Given the description of an element on the screen output the (x, y) to click on. 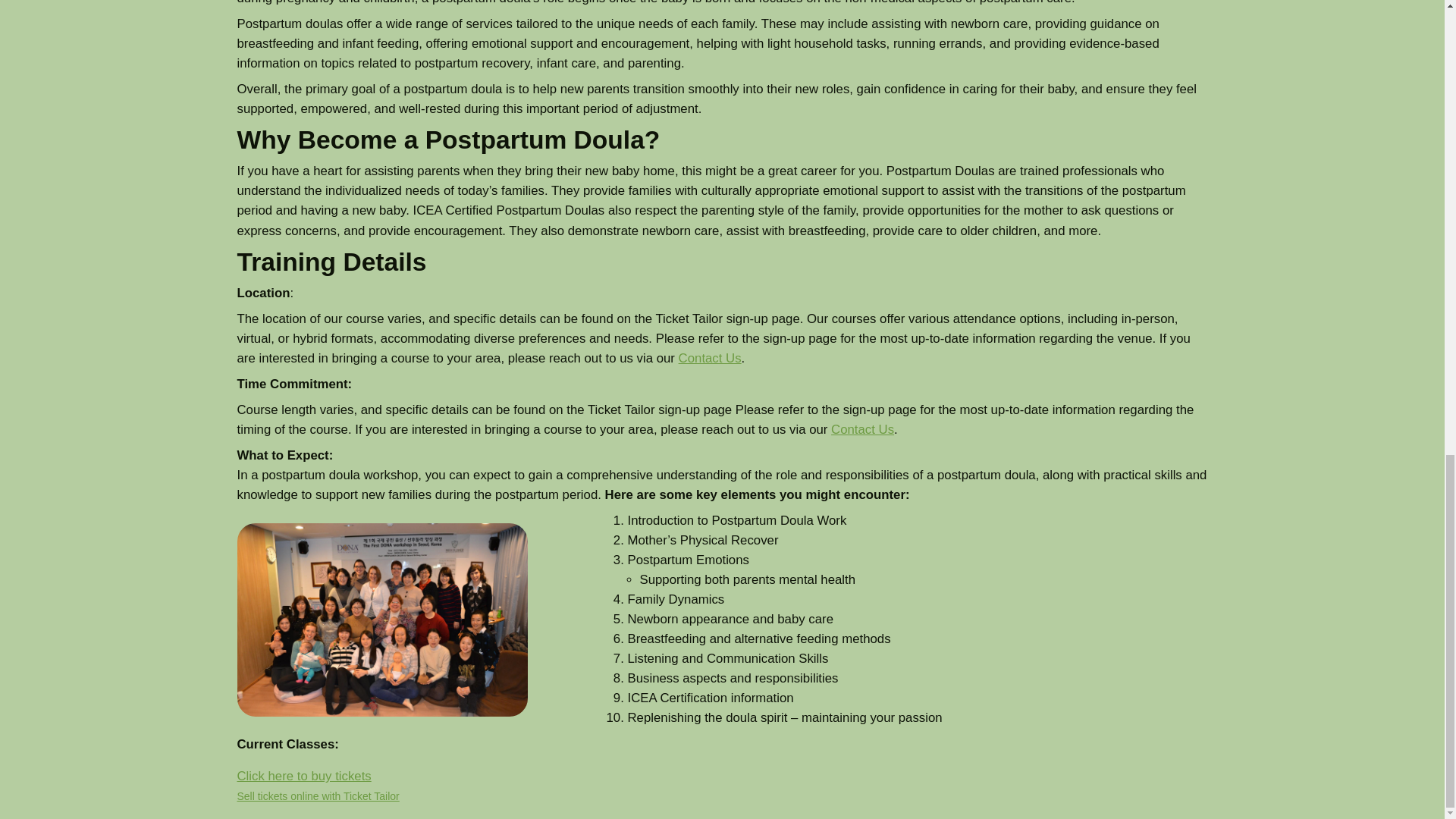
Sell tickets online with Ticket Tailor (316, 796)
Contact Us (862, 429)
Contact Us (709, 358)
Click here to buy tickets (303, 775)
